Given the description of an element on the screen output the (x, y) to click on. 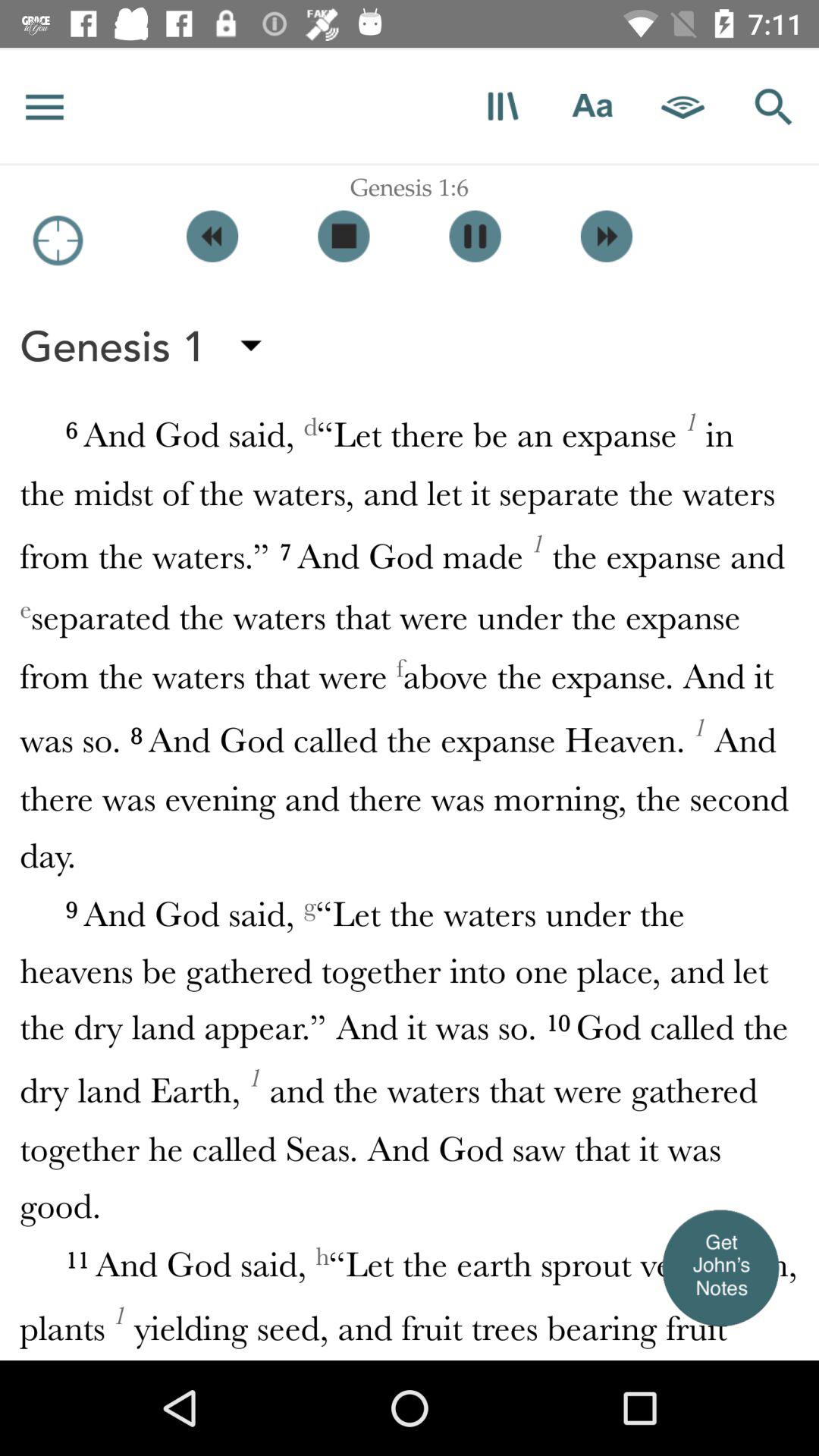
click left (212, 236)
